Given the description of an element on the screen output the (x, y) to click on. 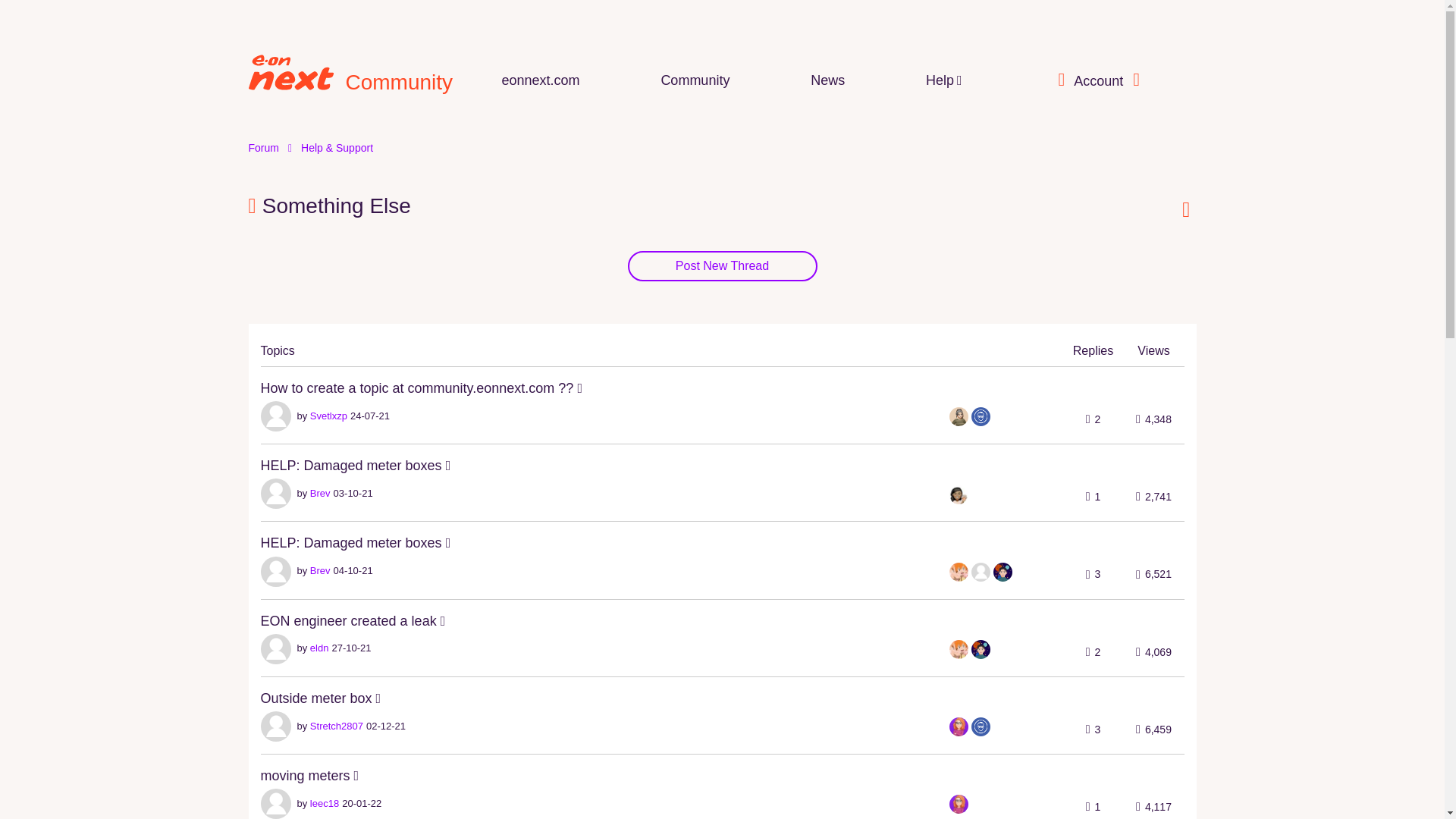
Beki (958, 571)
Brev (980, 571)
Svetlxzp (328, 415)
theunknowntech (980, 726)
Post New Thread (721, 265)
Community (695, 80)
Brev (320, 492)
Brev (320, 570)
Landmark (1001, 571)
eonnext.com (540, 80)
theunknowntech (980, 416)
E.on Next logo (290, 72)
eldn (319, 647)
Beki (958, 649)
Forum (263, 147)
